Given the description of an element on the screen output the (x, y) to click on. 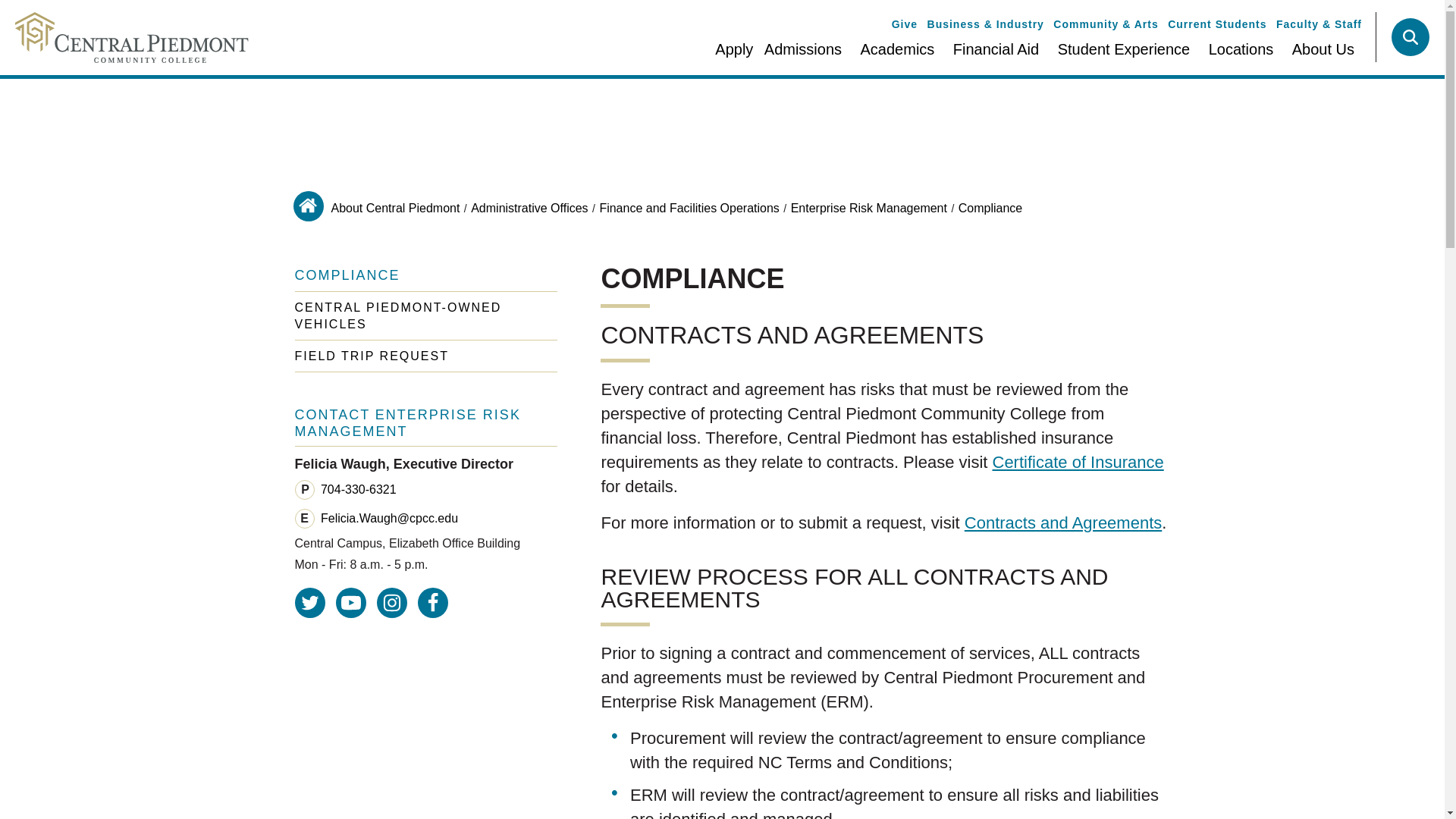
Click to Follow us on Twitter (309, 603)
Academics (897, 55)
Financial Aid (995, 55)
Toggle Search (1410, 37)
Make sure to follow us on Instagram (392, 603)
Phone Number (304, 489)
Email Address (304, 518)
Central Piedmont Community College Home Page (124, 37)
Apply (729, 55)
Home Page (307, 205)
